Given the description of an element on the screen output the (x, y) to click on. 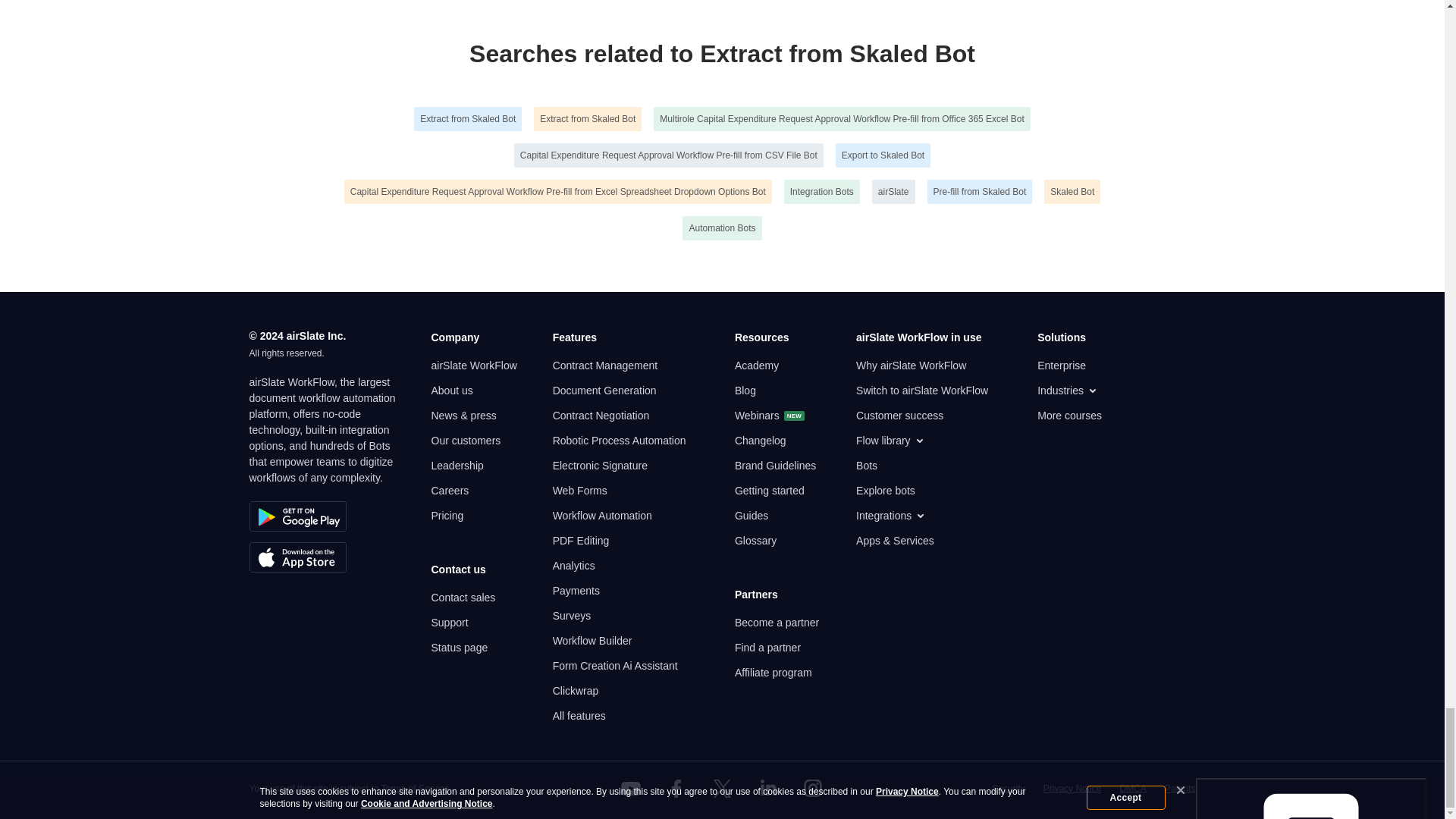
Twitter (721, 788)
Facebook (676, 788)
YouTube (630, 788)
Instagram (812, 788)
LinkedIn (767, 788)
